Given the description of an element on the screen output the (x, y) to click on. 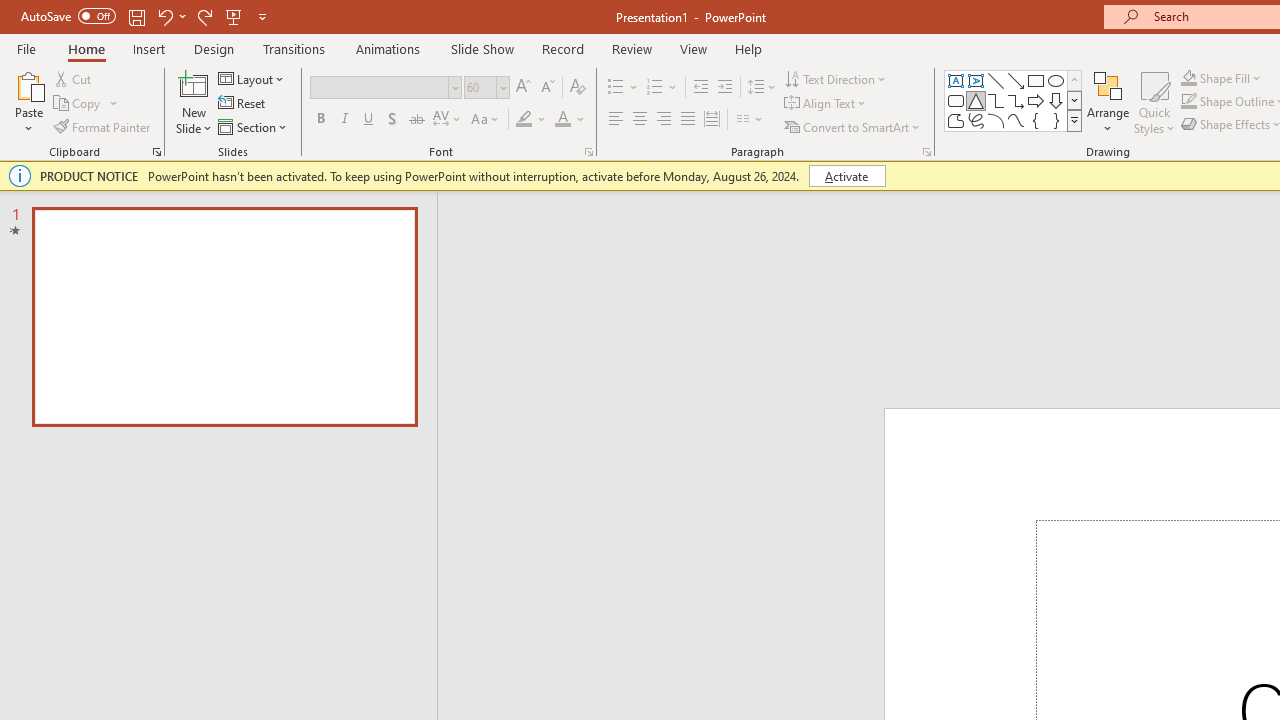
Paragraph... (926, 151)
Increase Font Size (522, 87)
Rectangle: Rounded Corners (955, 100)
Bold (320, 119)
Freeform: Scribble (975, 120)
Line Spacing (762, 87)
Align Left (616, 119)
